Given the description of an element on the screen output the (x, y) to click on. 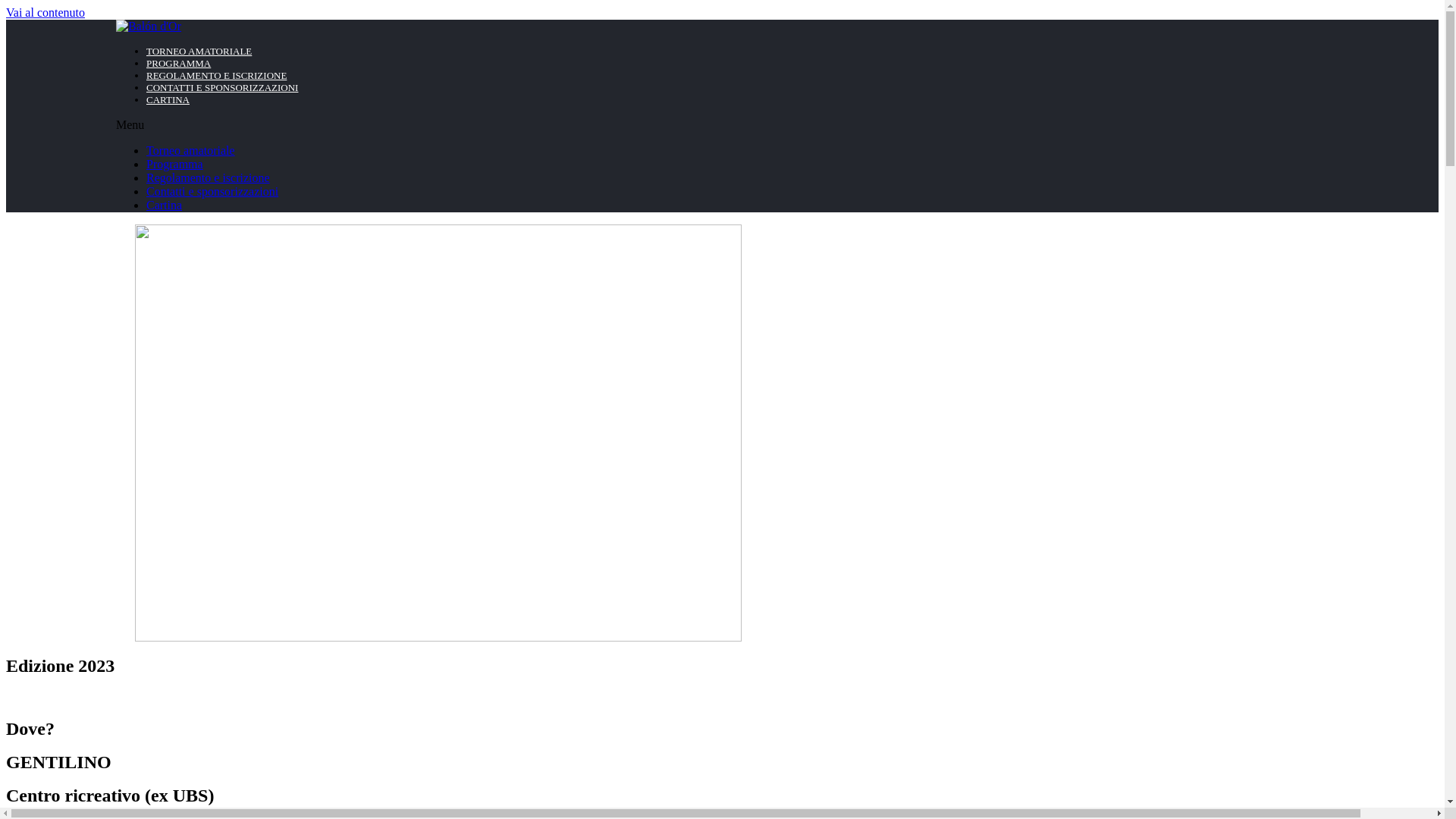
TORNEO AMATORIALE Element type: text (198, 50)
Cartina Element type: text (164, 204)
PROGRAMMA Element type: text (178, 63)
REGOLAMENTO E ISCRIZIONE Element type: text (216, 75)
Regolamento e iscrizione Element type: text (207, 177)
Vai al contenuto Element type: text (45, 12)
CONTATTI E SPONSORIZZAZIONI Element type: text (222, 87)
Torneo amatoriale Element type: text (190, 150)
Contatti e sponsorizzazioni Element type: text (212, 191)
CARTINA Element type: text (167, 99)
Programma Element type: text (174, 163)
